Given the description of an element on the screen output the (x, y) to click on. 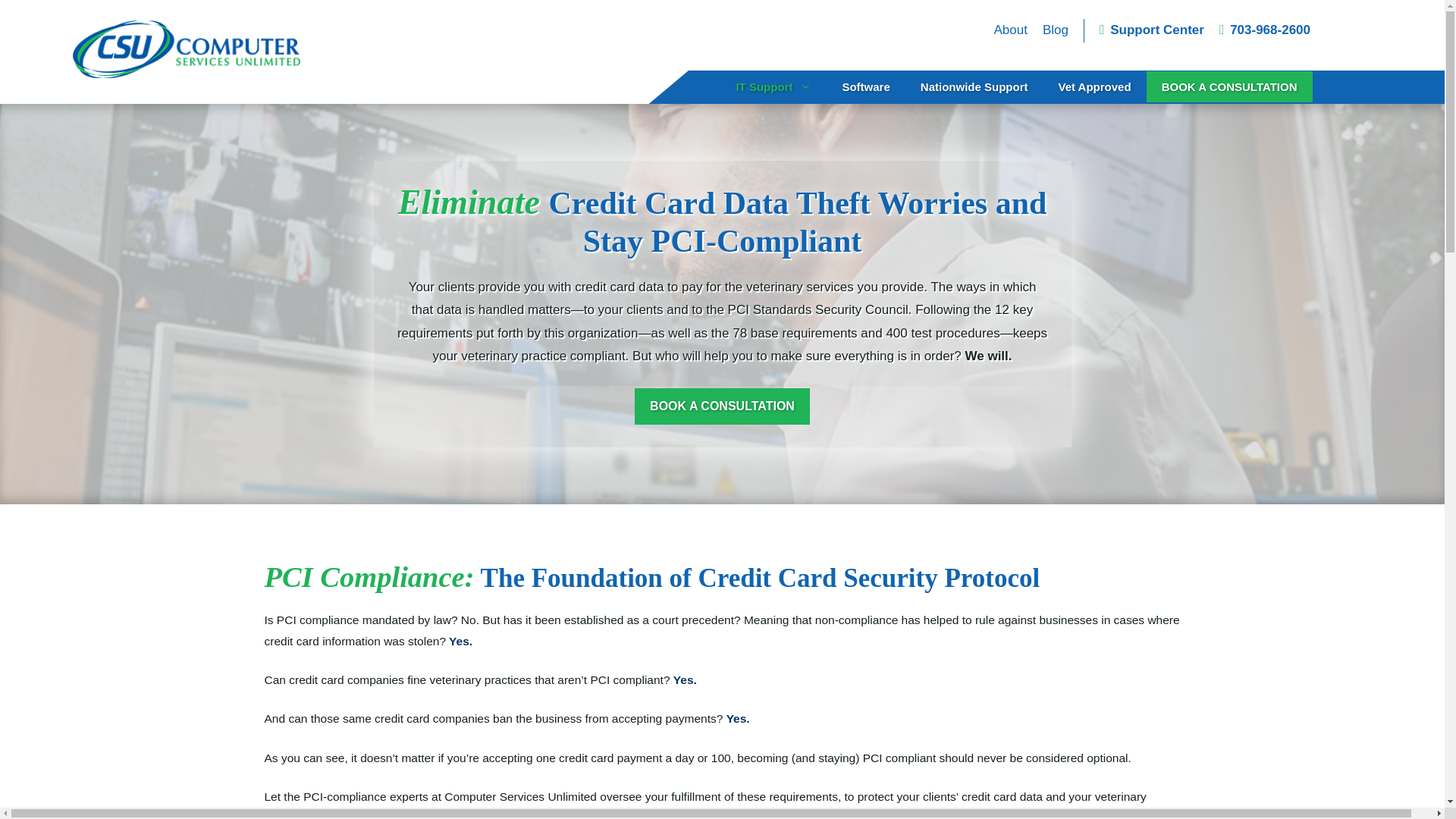
BOOK A CONSULTATION (721, 406)
About (1009, 29)
Blog (1055, 29)
Software (865, 87)
Vet Approved (1093, 87)
Support Center (1151, 29)
703-968-2600 (1265, 29)
IT Support (773, 87)
Nationwide Support (974, 87)
BOOK A CONSULTATION (1230, 86)
